Given the description of an element on the screen output the (x, y) to click on. 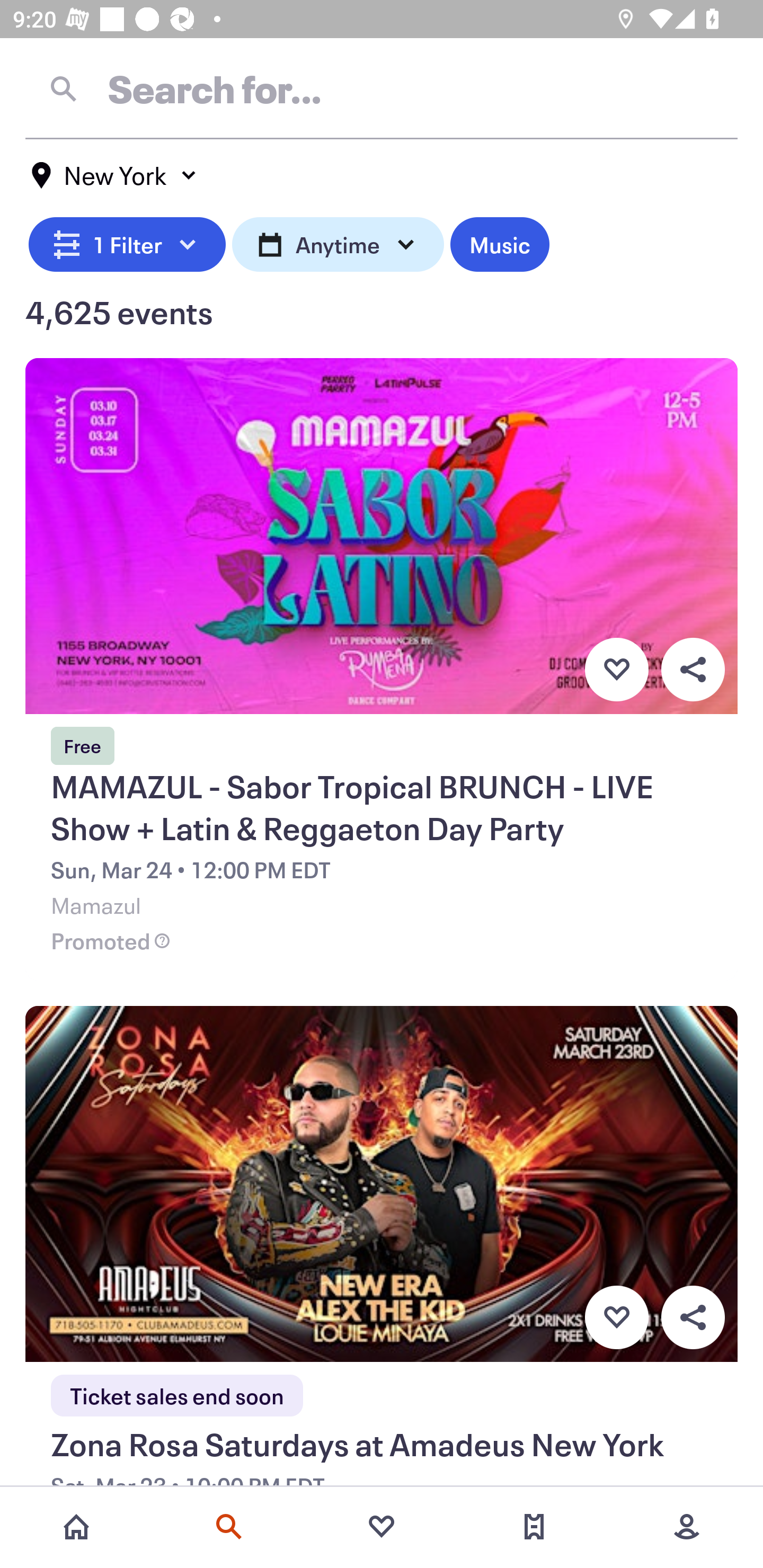
Search for… (381, 88)
New York (114, 175)
1 Filter (126, 241)
Anytime (337, 241)
Music (499, 241)
Favorite button (616, 669)
Overflow menu button (692, 669)
Favorite button (616, 1317)
Overflow menu button (692, 1317)
Home (76, 1526)
Search events (228, 1526)
Favorites (381, 1526)
Tickets (533, 1526)
More (686, 1526)
